Given the description of an element on the screen output the (x, y) to click on. 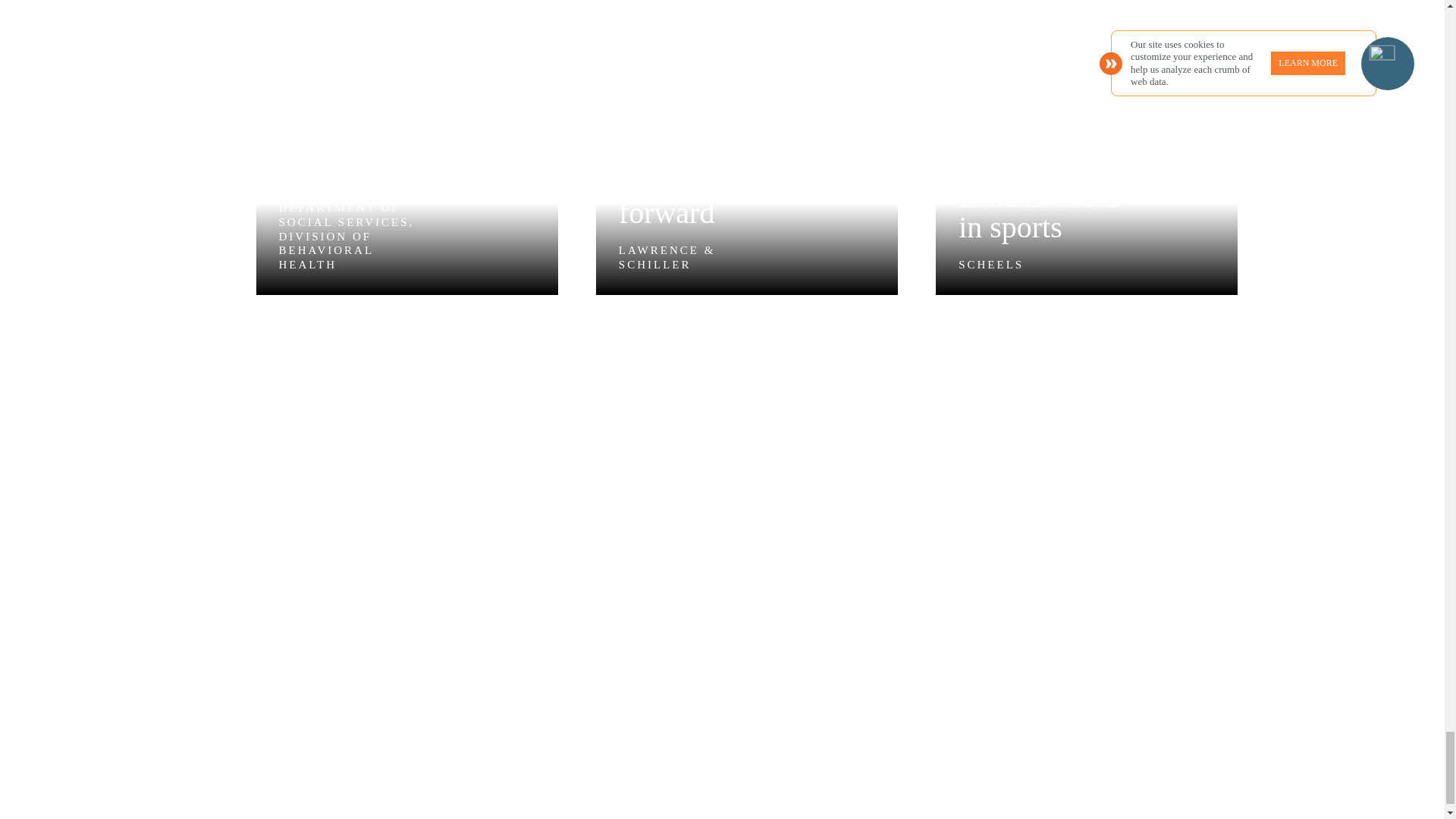
Do the Thing (492, 692)
